Given the description of an element on the screen output the (x, y) to click on. 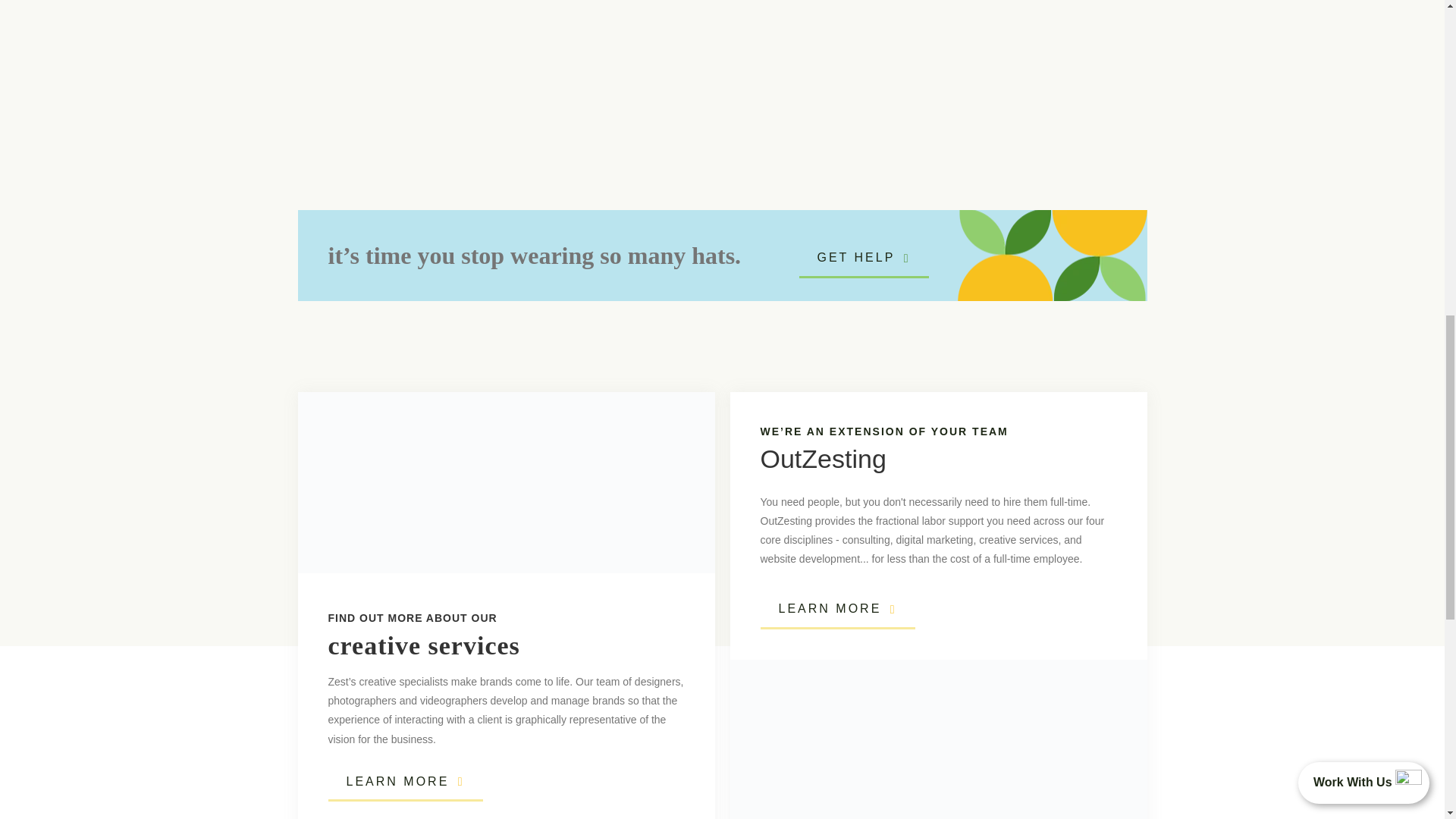
LEARN MORE (837, 609)
LEARN MORE (404, 782)
GET HELP (863, 258)
